Given the description of an element on the screen output the (x, y) to click on. 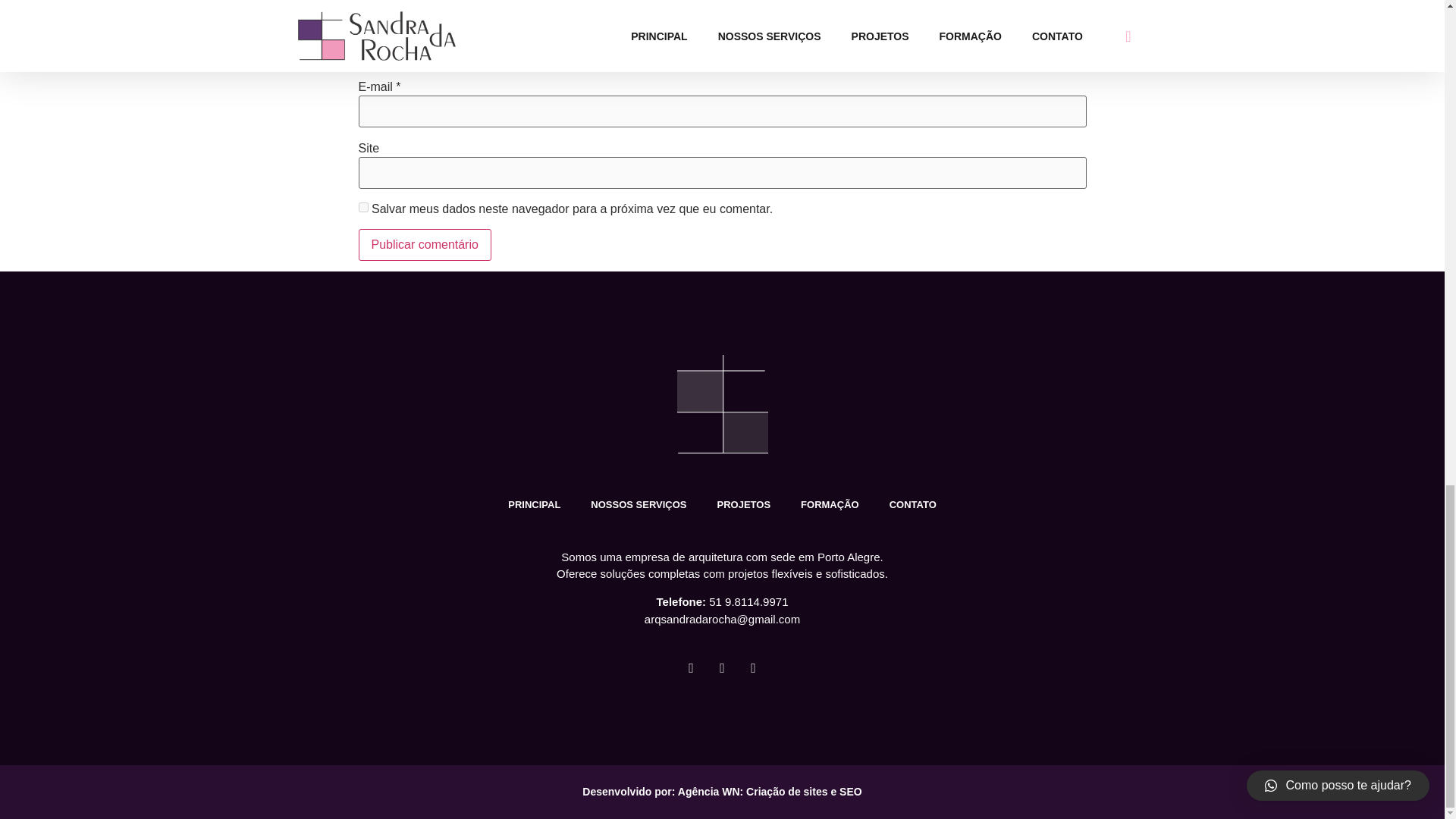
51 9.8114.9971 (748, 601)
PRINCIPAL (534, 504)
logo-favicon (722, 403)
CONTATO (913, 504)
PROJETOS (743, 504)
SEO (850, 791)
yes (363, 207)
